Given the description of an element on the screen output the (x, y) to click on. 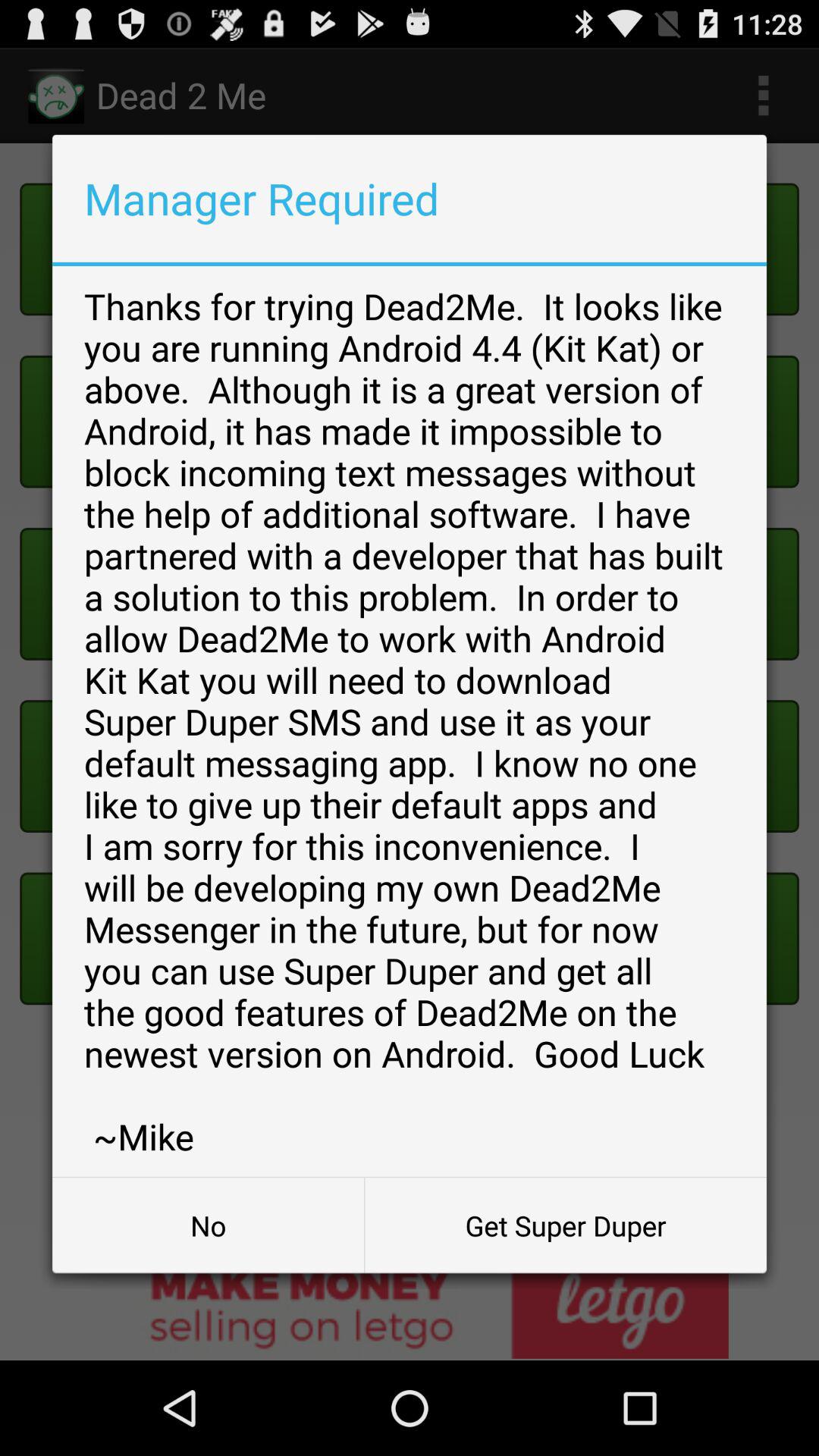
select the item below the thanks for trying icon (565, 1225)
